Given the description of an element on the screen output the (x, y) to click on. 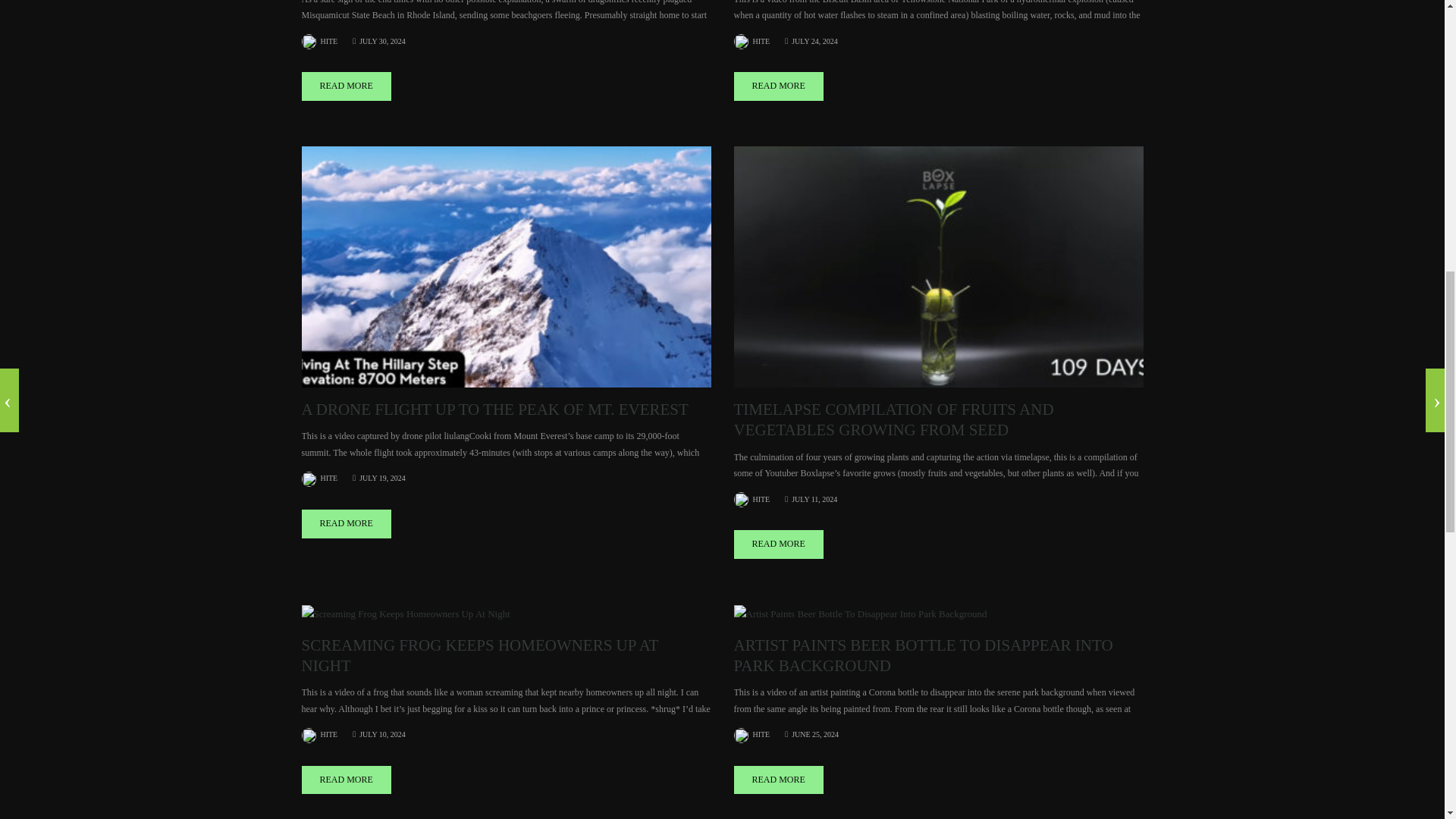
A Drone Flight Up To The Peak Of Mt. Everest (506, 265)
HITE (751, 40)
A DRONE FLIGHT UP TO THE PEAK OF MT. EVEREST (494, 409)
HITE (319, 478)
READ MORE (346, 86)
HITE (751, 499)
READ MORE (778, 86)
Read More (346, 86)
READ MORE (346, 523)
Read More (778, 86)
READ MORE (778, 543)
HITE (319, 40)
